Given the description of an element on the screen output the (x, y) to click on. 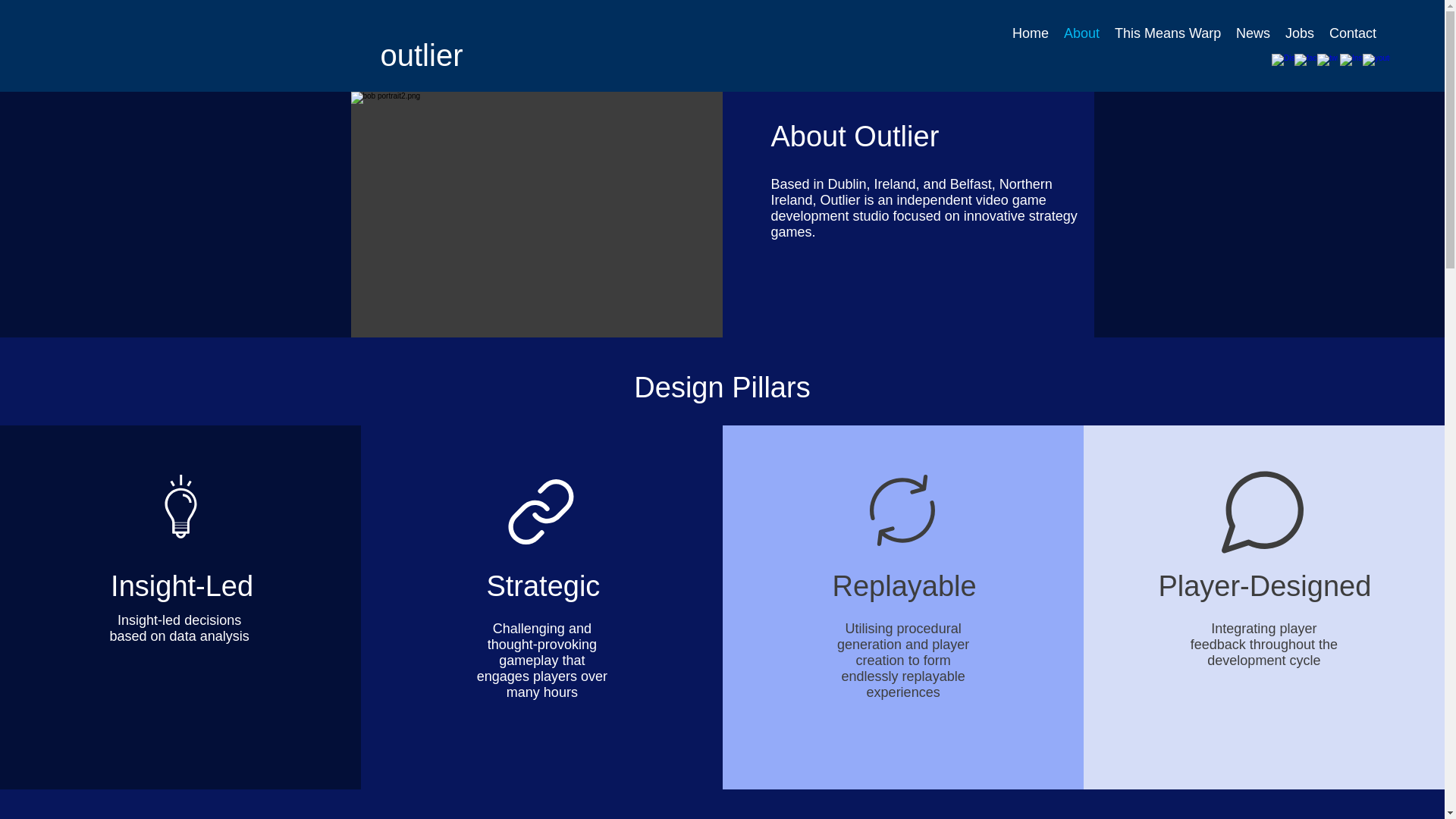
This Means Warp (1167, 33)
About (1081, 33)
Home (1030, 33)
Jobs (1300, 33)
Contact (1353, 33)
News (1253, 33)
outlier (421, 55)
